Given the description of an element on the screen output the (x, y) to click on. 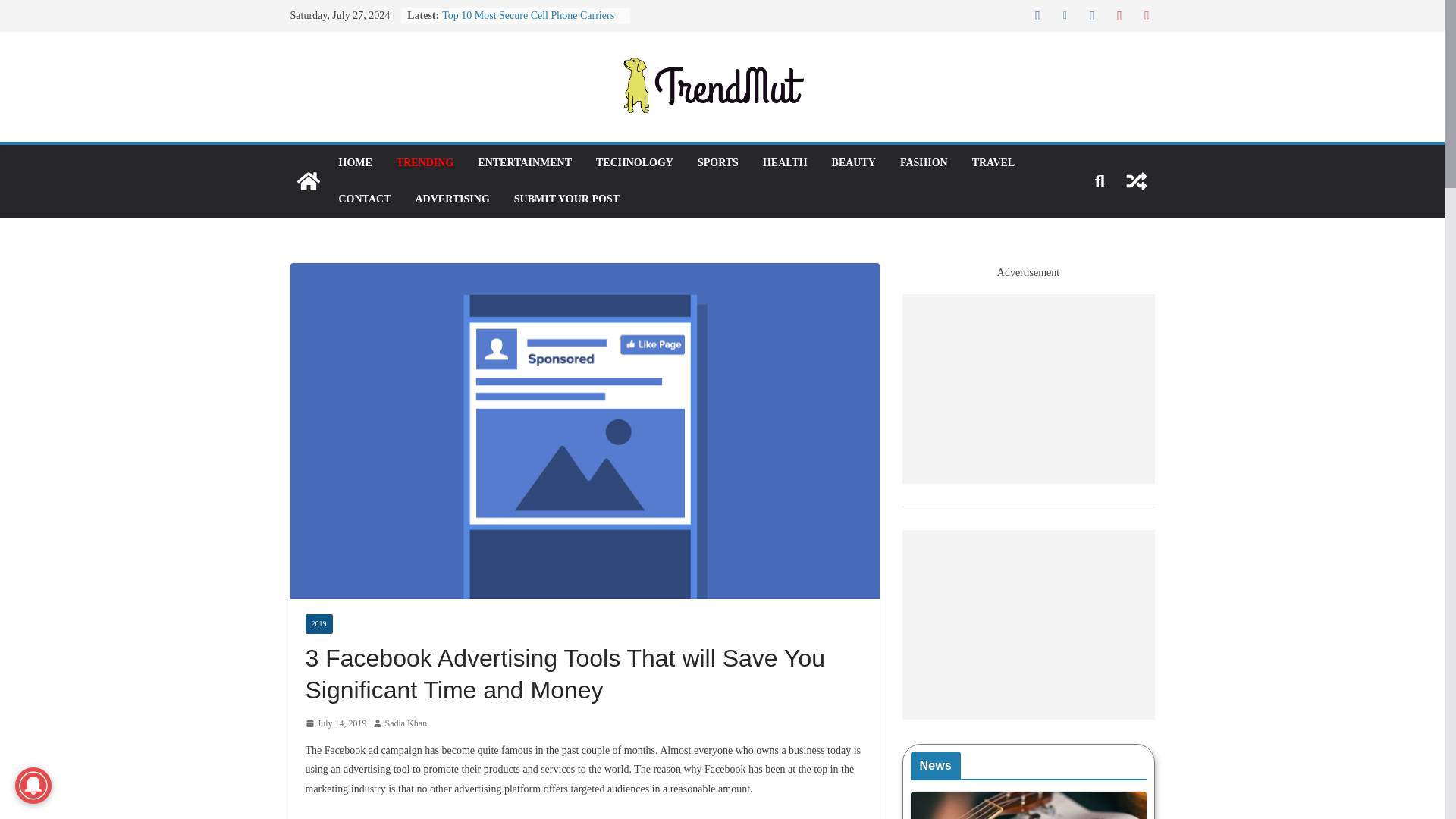
View a random post (1136, 180)
ENTERTAINMENT (524, 162)
Top 10 Most Secure Cell Phone Carriers in 2024 (528, 22)
SPORTS (717, 162)
2019 (317, 623)
HEALTH (785, 162)
HOME (354, 162)
July 14, 2019 (335, 723)
TECHNOLOGY (633, 162)
CONTACT (363, 199)
TRAVEL (993, 162)
Sadia Khan (406, 723)
SUBMIT YOUR POST (566, 199)
10:00 am (335, 723)
BEAUTY (853, 162)
